Given the description of an element on the screen output the (x, y) to click on. 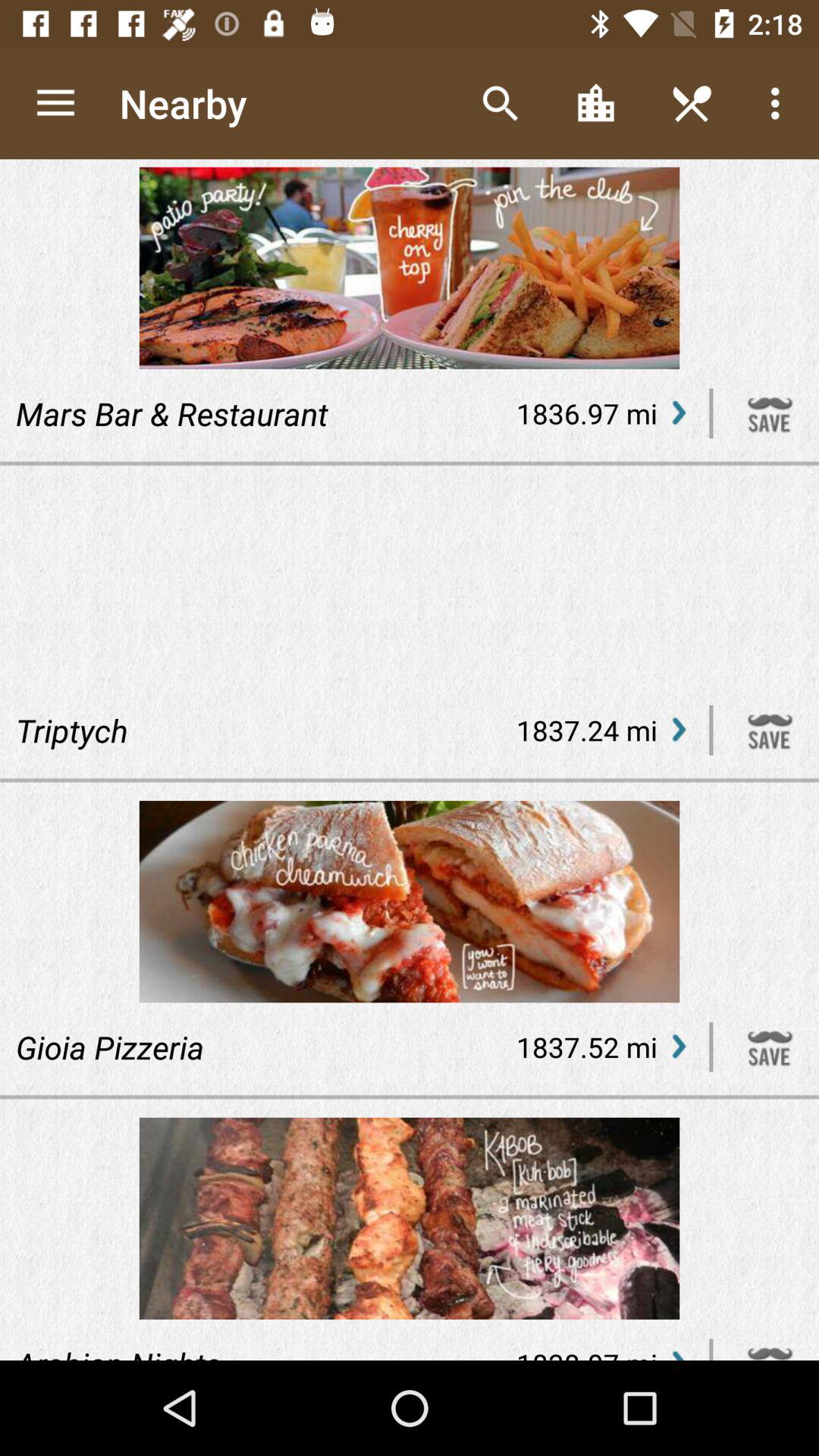
open the app to the left of the nearby app (55, 103)
